Given the description of an element on the screen output the (x, y) to click on. 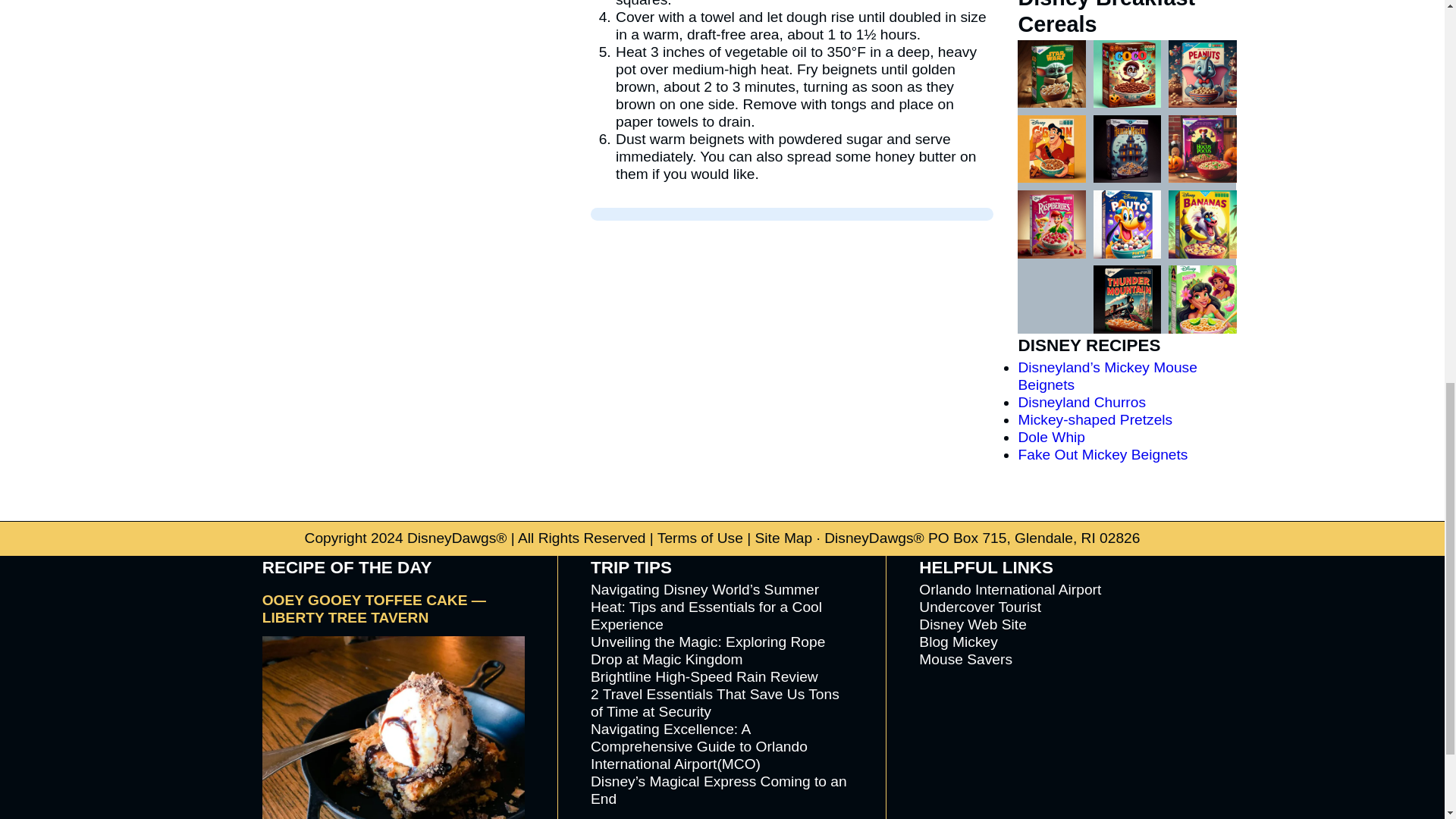
Fake Out Mickey Beignets (1102, 454)
Site Map (783, 537)
Dole Whip (1050, 437)
Terms of Use (700, 537)
Orlando International Airport (1009, 589)
Unveiling the Magic: Exploring Rope Drop at Magic Kingdom (708, 650)
2 Travel Essentials That Save Us Tons of Time at Security (715, 702)
Brightline High-Speed Rain Review (704, 676)
Mickey-shaped Pretzels (1094, 419)
Disneyland Churros (1081, 401)
